Given the description of an element on the screen output the (x, y) to click on. 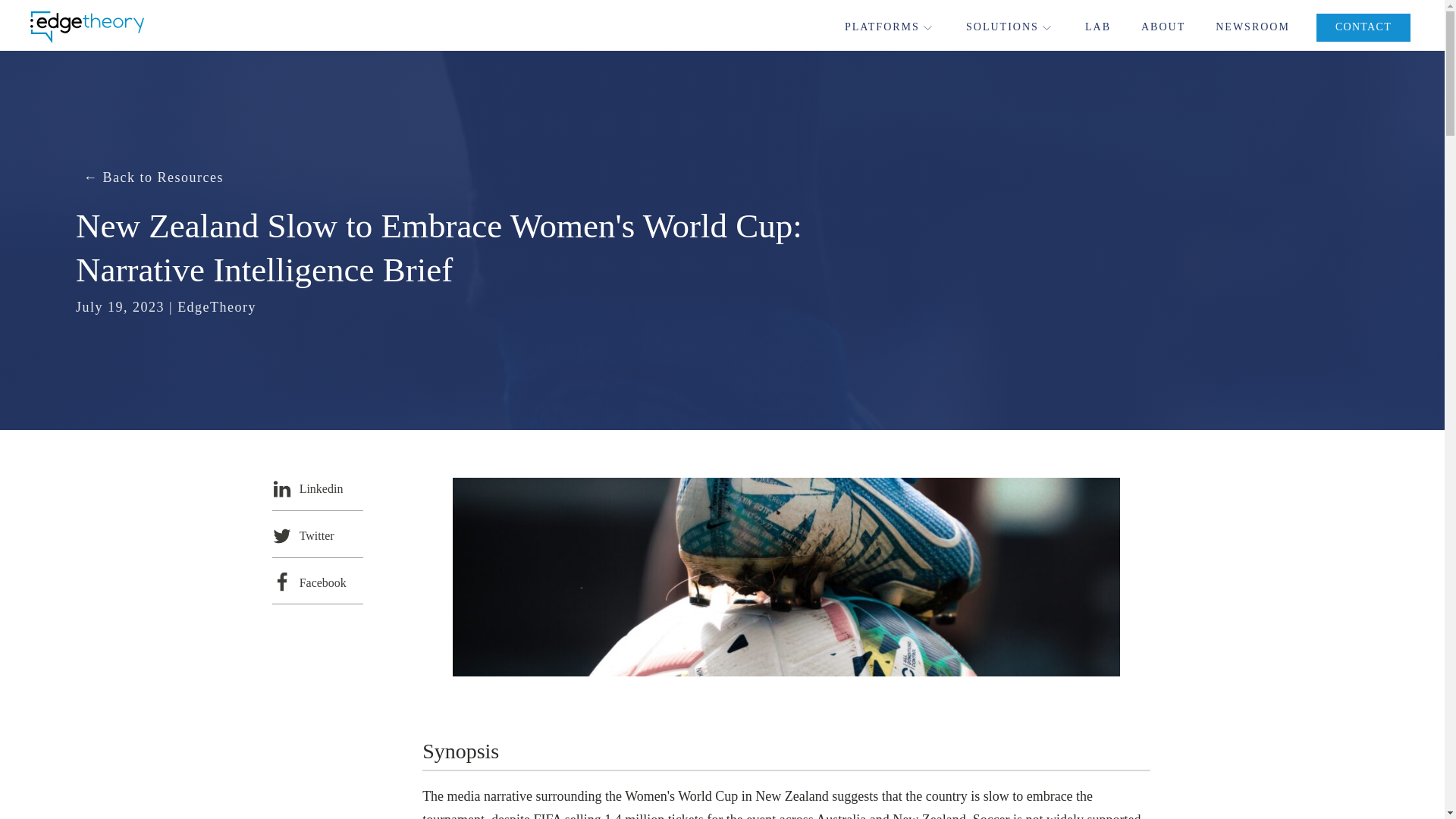
NEWSROOM (1252, 27)
CONTACT (1363, 27)
EdgeTheory (216, 306)
ABOUT (1163, 27)
PLATFORMS (890, 27)
Twitter (317, 534)
LAB (1097, 27)
Facebook (317, 581)
Linkedin (317, 487)
SOLUTIONS (1010, 27)
